Given the description of an element on the screen output the (x, y) to click on. 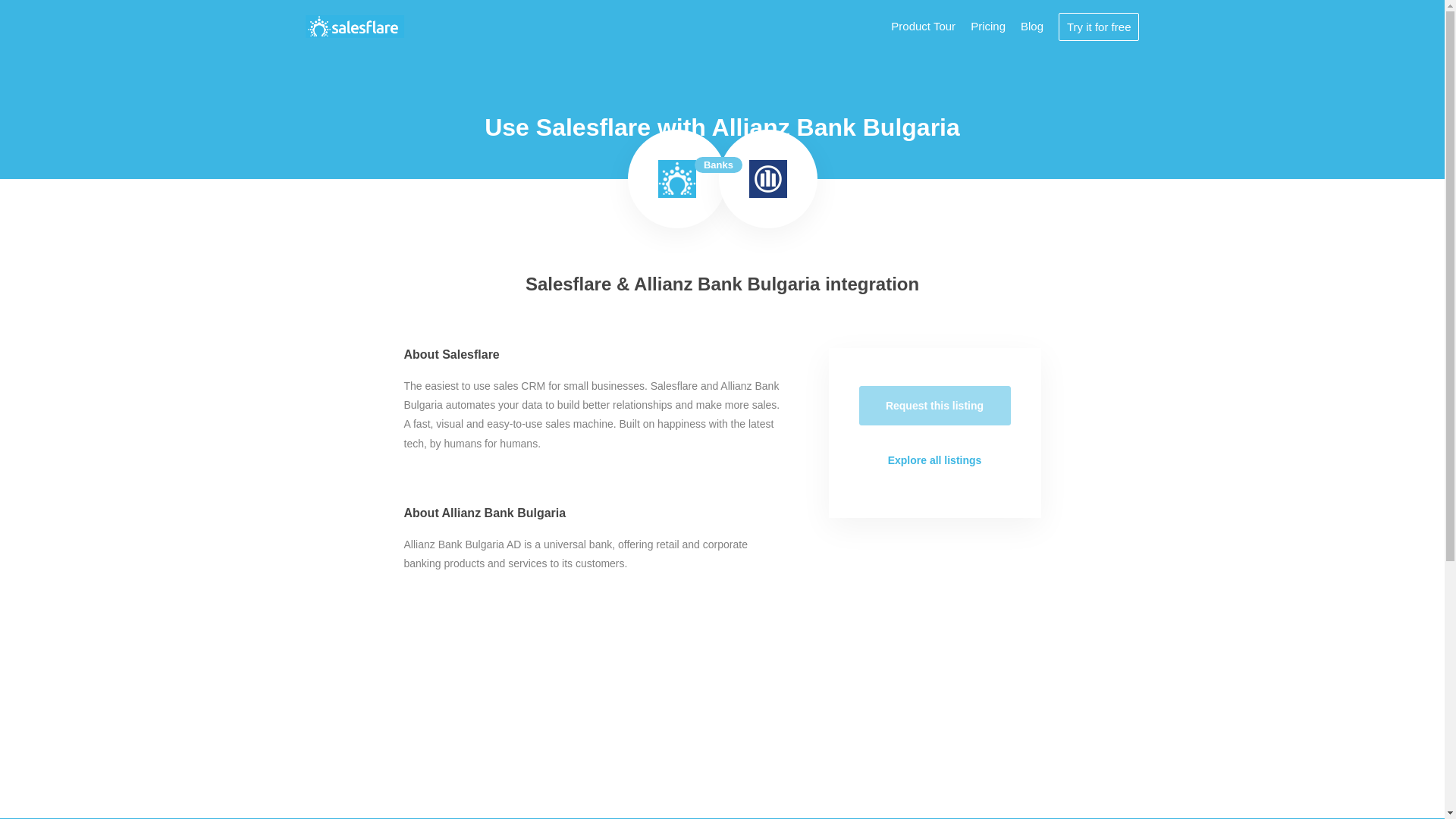
Request this listing (934, 405)
Try it for free (1098, 26)
Explore all listings (934, 459)
Product Tour (923, 25)
Allianz Bank Bulgaria (768, 178)
Salesflare (354, 26)
Pricing (988, 25)
Blog (1031, 25)
Salesflare (676, 178)
